Given the description of an element on the screen output the (x, y) to click on. 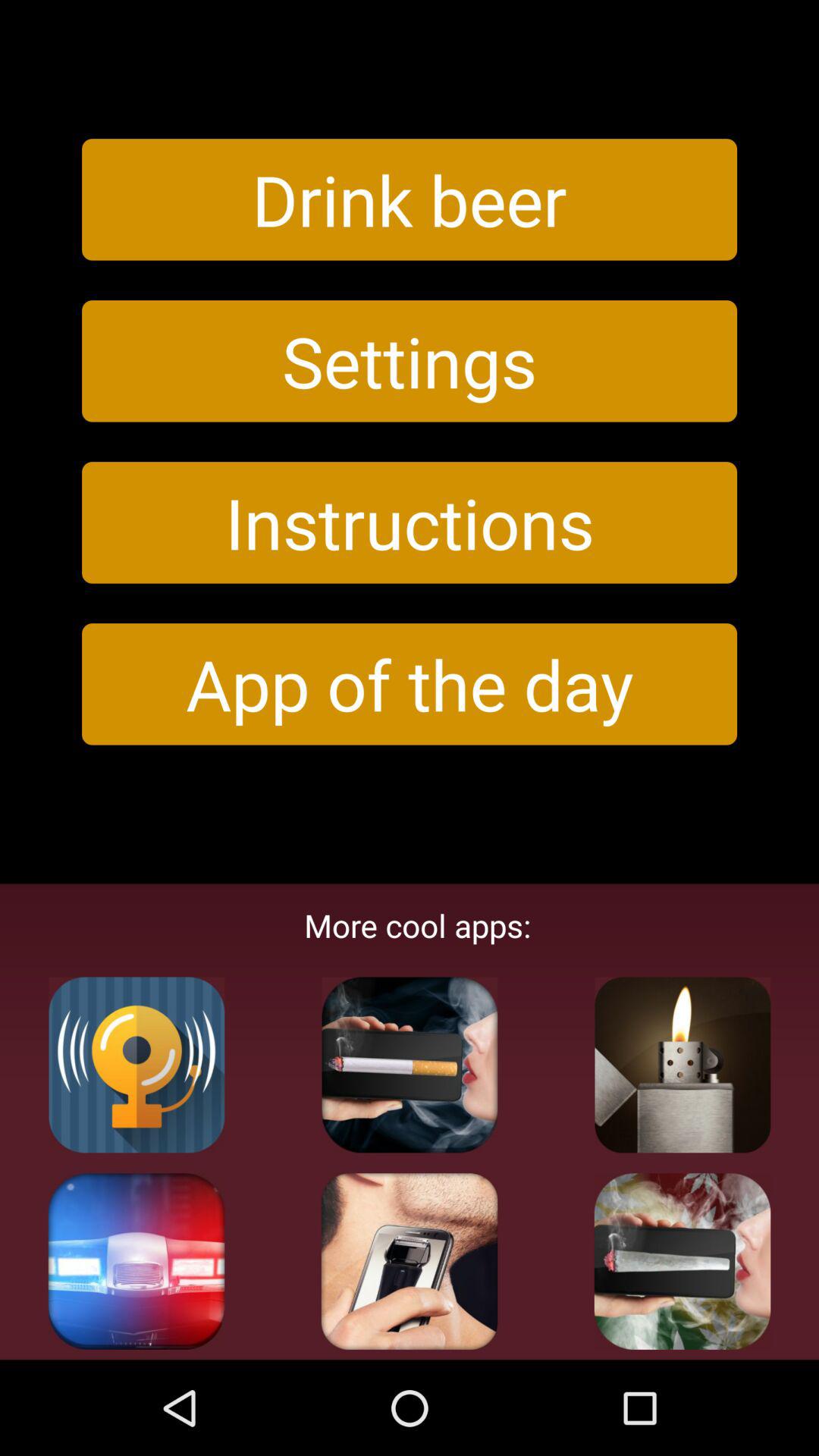
select the icon below the drink beer (409, 361)
